Given the description of an element on the screen output the (x, y) to click on. 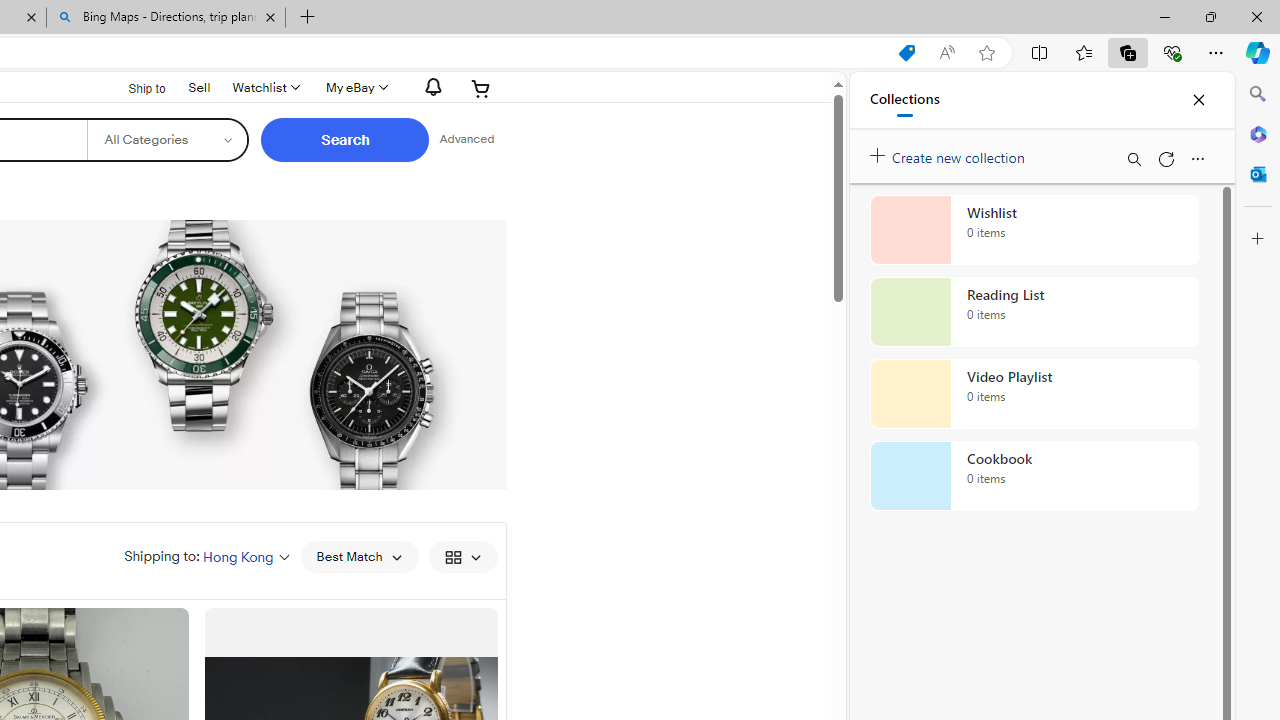
My eBayExpand My eBay (354, 88)
View: Gallery View (462, 556)
Advanced Search (466, 139)
AutomationID: gh-eb-Alerts (430, 87)
Shipping to: Hong Kong (207, 556)
Sort: Best Match (358, 556)
